Given the description of an element on the screen output the (x, y) to click on. 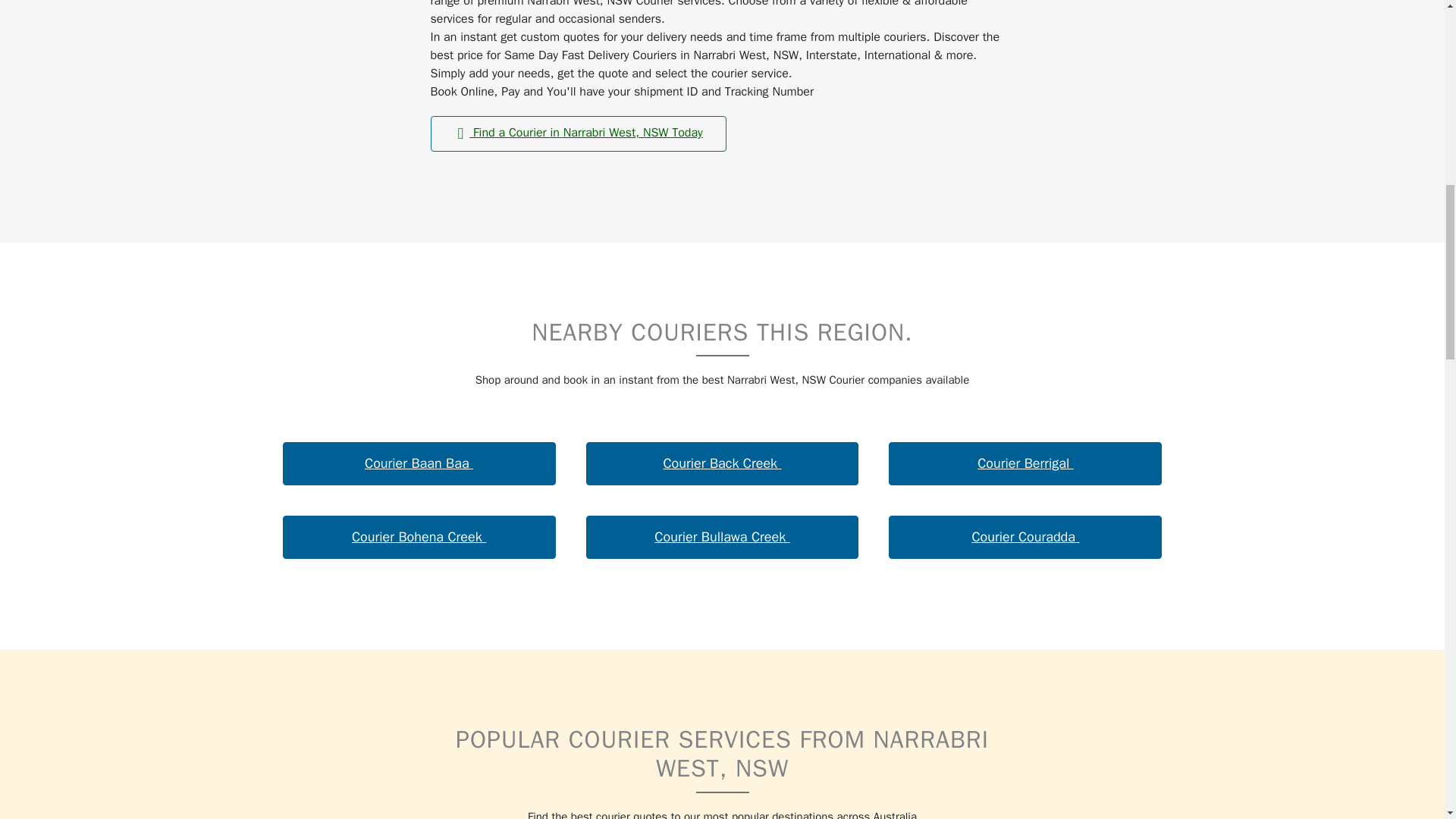
Courier Bohena Creek (419, 536)
Find a Courier in Narrabri West, NSW Today (578, 133)
Courier Baan Baa (419, 463)
Courier Back Creek (722, 463)
Courier Berrigal (1024, 463)
